Given the description of an element on the screen output the (x, y) to click on. 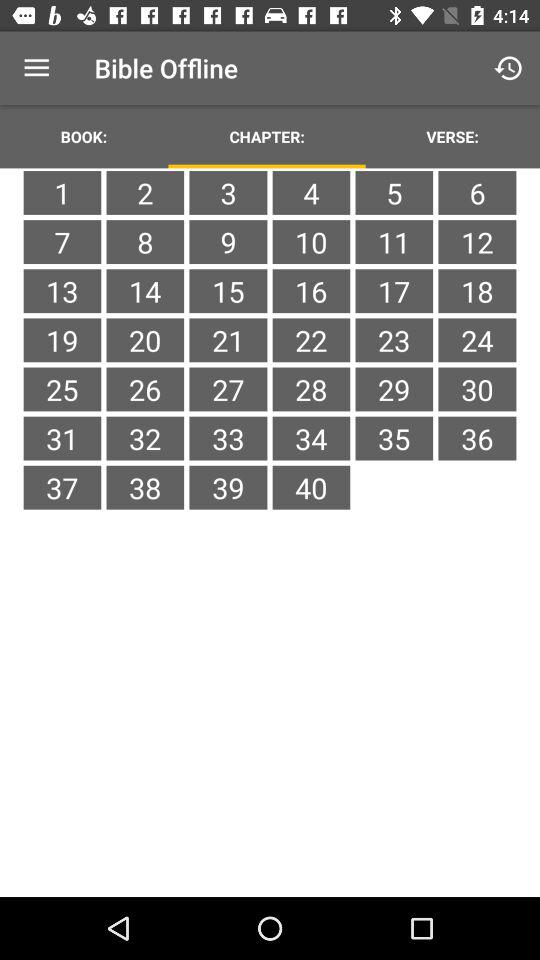
turn on the icon to the left of the chapter: item (84, 136)
